Given the description of an element on the screen output the (x, y) to click on. 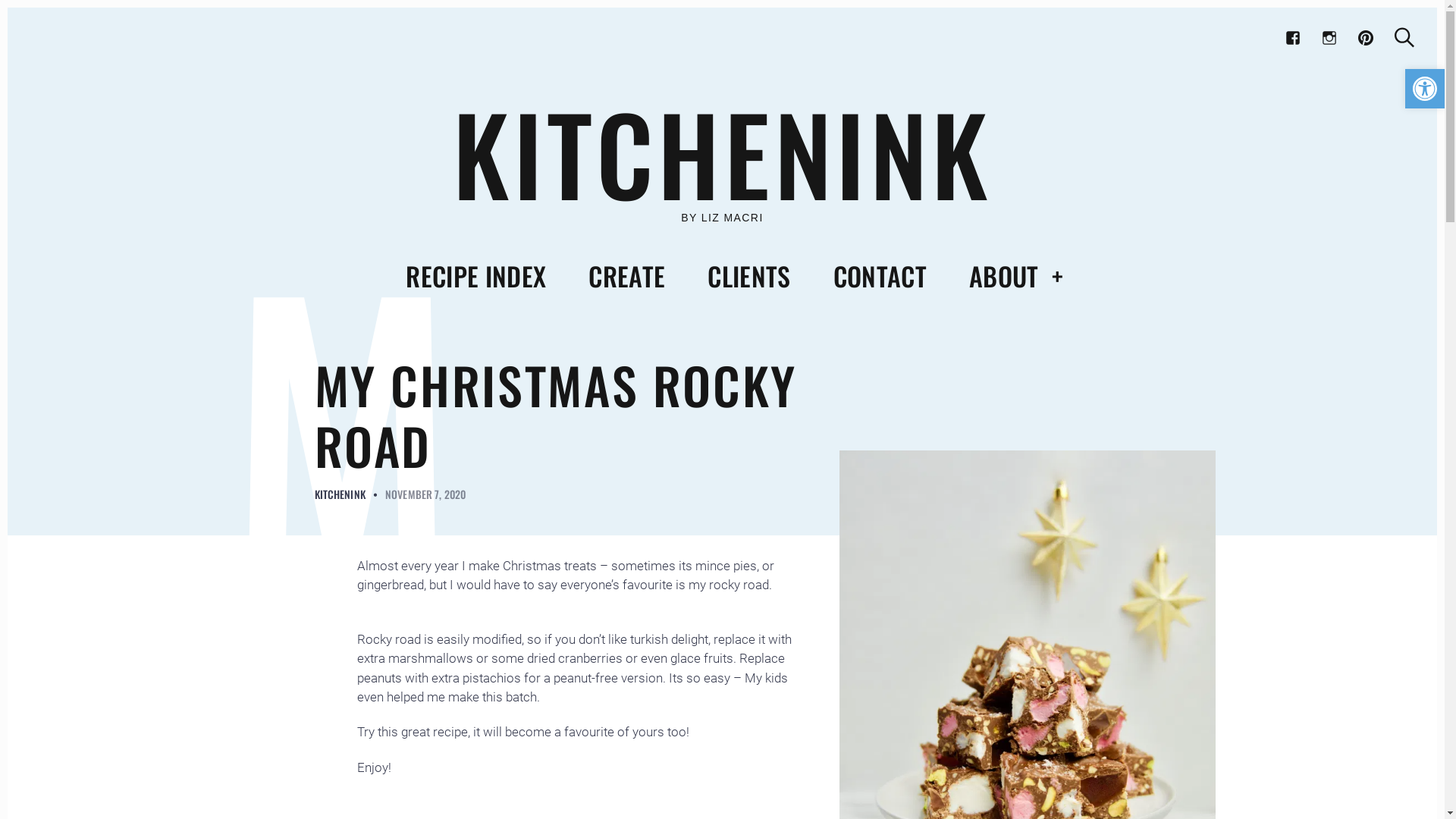
FACEBOOK Element type: text (1292, 37)
PINTEREST Element type: text (1365, 37)
RECIPE INDEX Element type: text (475, 275)
INSTAGRAM Element type: text (1328, 37)
NO-BAKE Element type: text (324, 390)
KITCHENINK Element type: text (338, 494)
KITCHENINK Element type: text (722, 152)
CREATE Element type: text (626, 275)
CONTACT Element type: text (879, 275)
CLIENTS Element type: text (748, 275)
Search Element type: text (1404, 37)
ABOUT Element type: text (1003, 275)
NOVEMBER 7, 2020 Element type: text (425, 494)
Skip to content Element type: text (7, 7)
Open toolbar
Accessibility Element type: text (1424, 88)
